Given the description of an element on the screen output the (x, y) to click on. 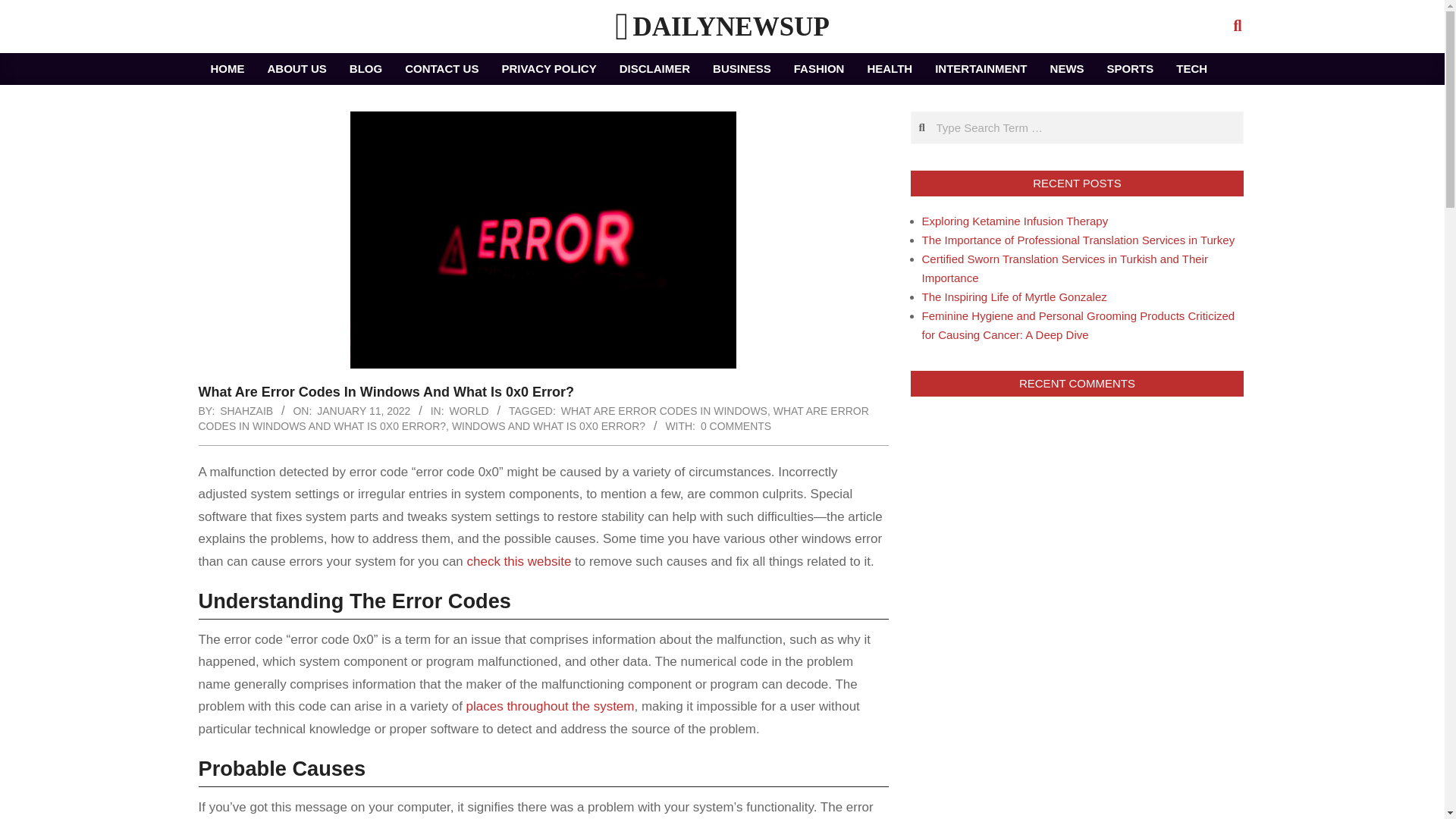
The Inspiring Life of Myrtle Gonzalez (1013, 296)
BLOG (365, 69)
check this website (519, 561)
ABOUT US (296, 69)
0 COMMENTS (735, 426)
DISCLAIMER (654, 69)
WHAT ARE ERROR CODES IN WINDOWS (663, 410)
Search (26, 9)
PRIVACY POLICY (548, 69)
